Given the description of an element on the screen output the (x, y) to click on. 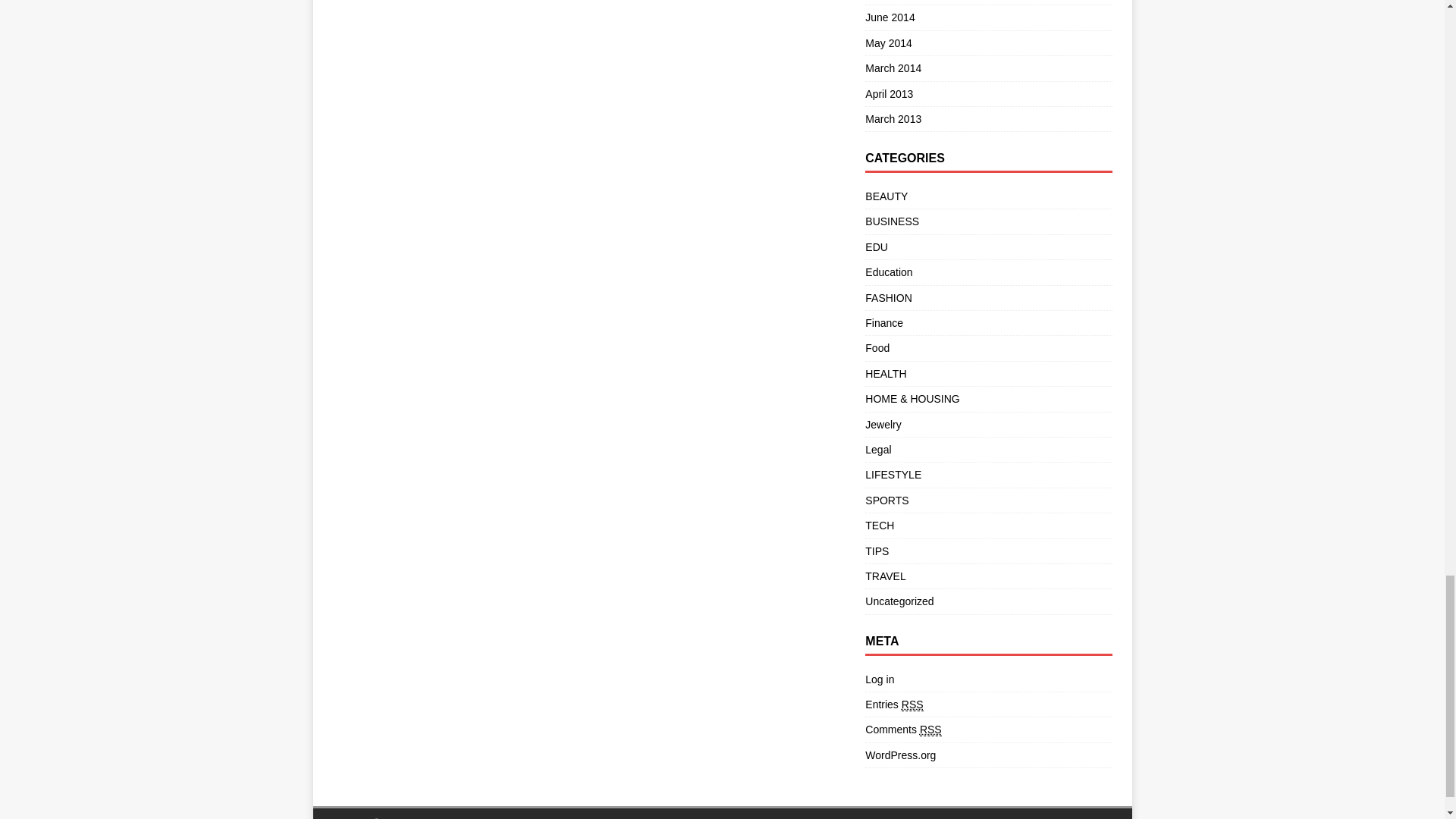
Really Simple Syndication (912, 704)
Really Simple Syndication (931, 729)
